Given the description of an element on the screen output the (x, y) to click on. 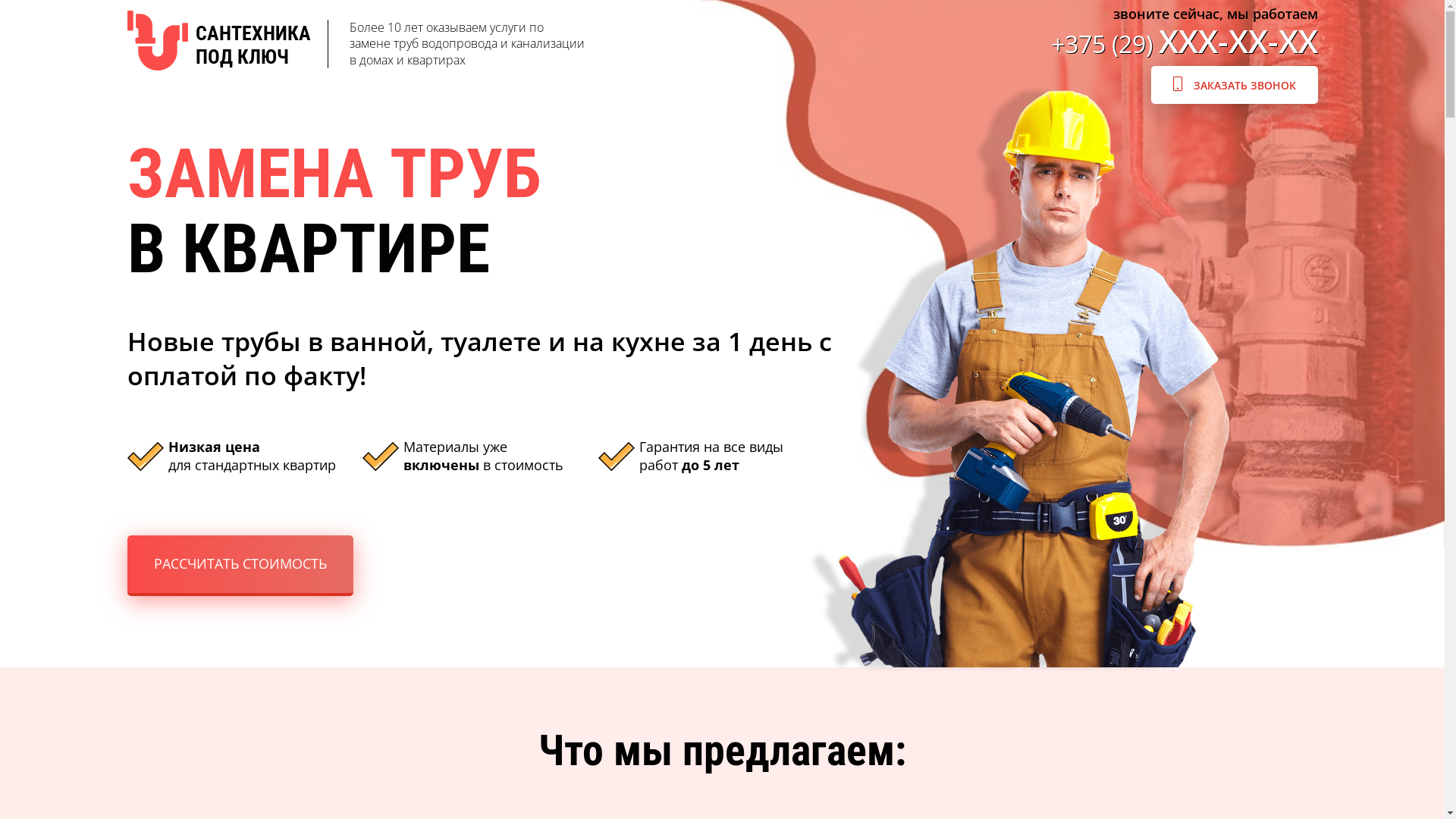
+375 (29) XXX-XX-XX Element type: text (1184, 43)
